Given the description of an element on the screen output the (x, y) to click on. 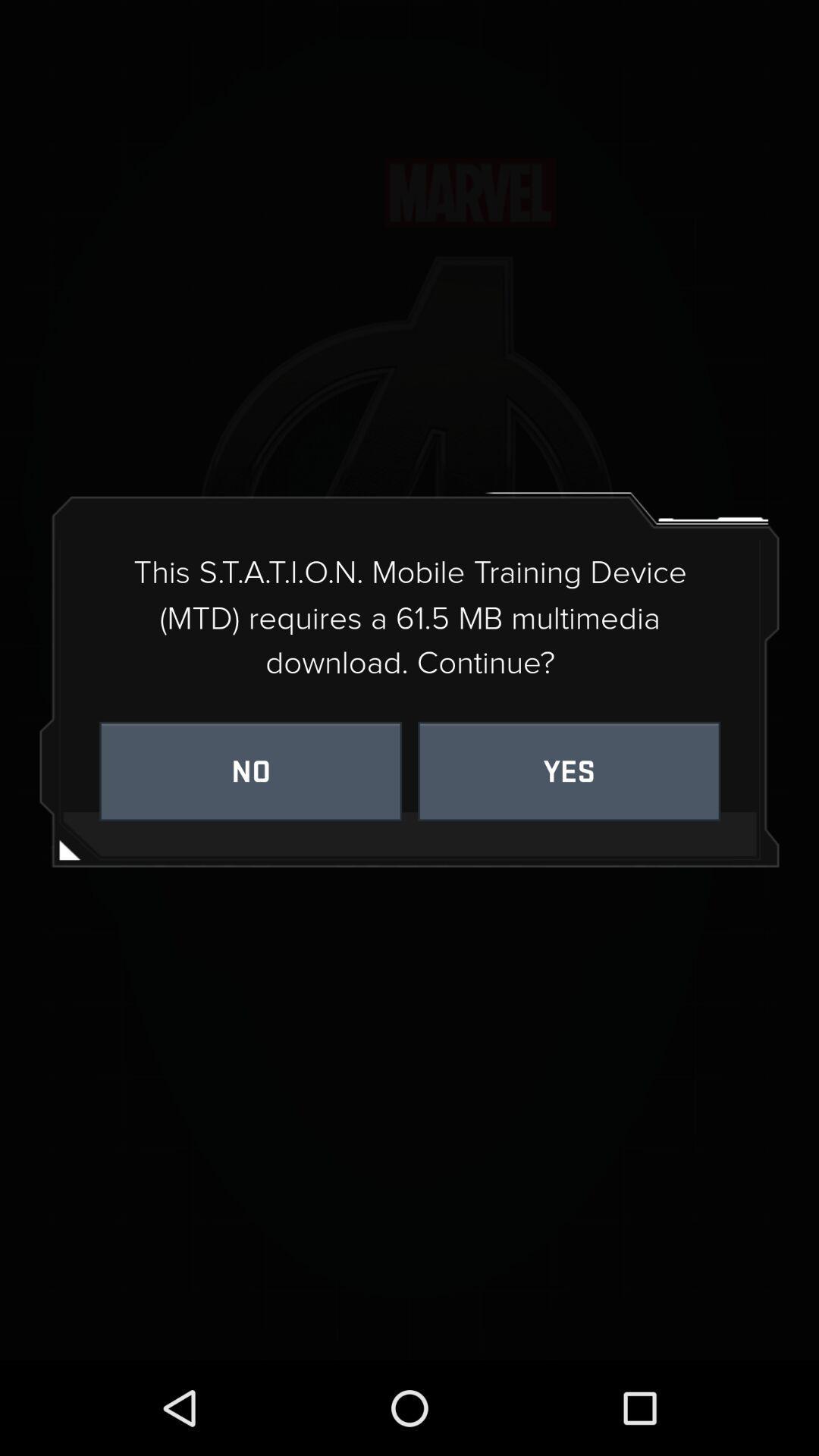
click no item (250, 771)
